Given the description of an element on the screen output the (x, y) to click on. 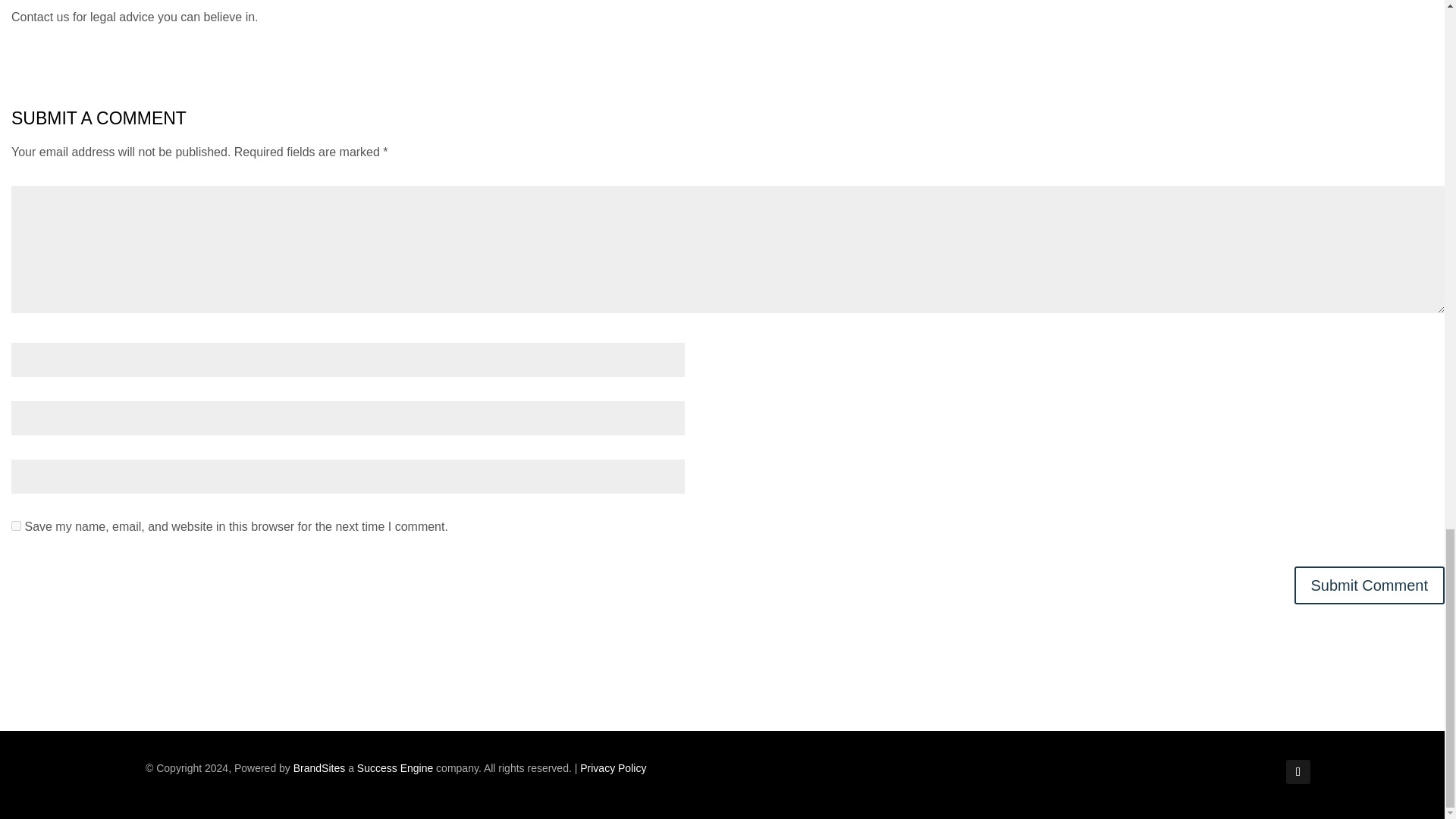
yes (16, 525)
Success Engine (394, 767)
BrandSites (319, 767)
Submit Comment (1369, 585)
Submit Comment (1369, 585)
Privacy Policy (612, 767)
Follow on LinkedIn (1297, 771)
